Given the description of an element on the screen output the (x, y) to click on. 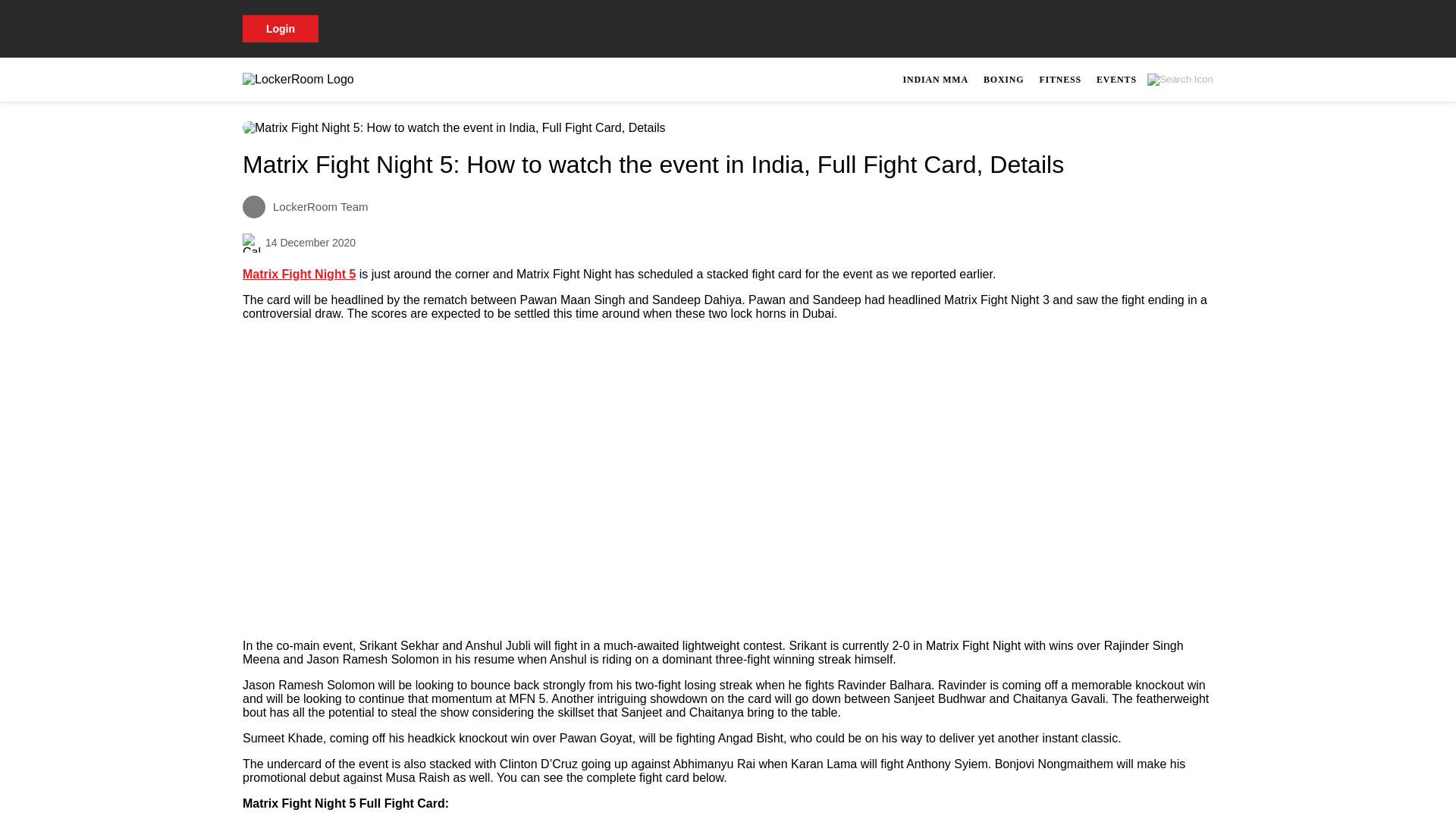
FITNESS (1059, 78)
BOXING (1002, 78)
Matrix Fight Night 5 (299, 273)
EVENTS (1116, 78)
INDIAN MMA (935, 78)
